Given the description of an element on the screen output the (x, y) to click on. 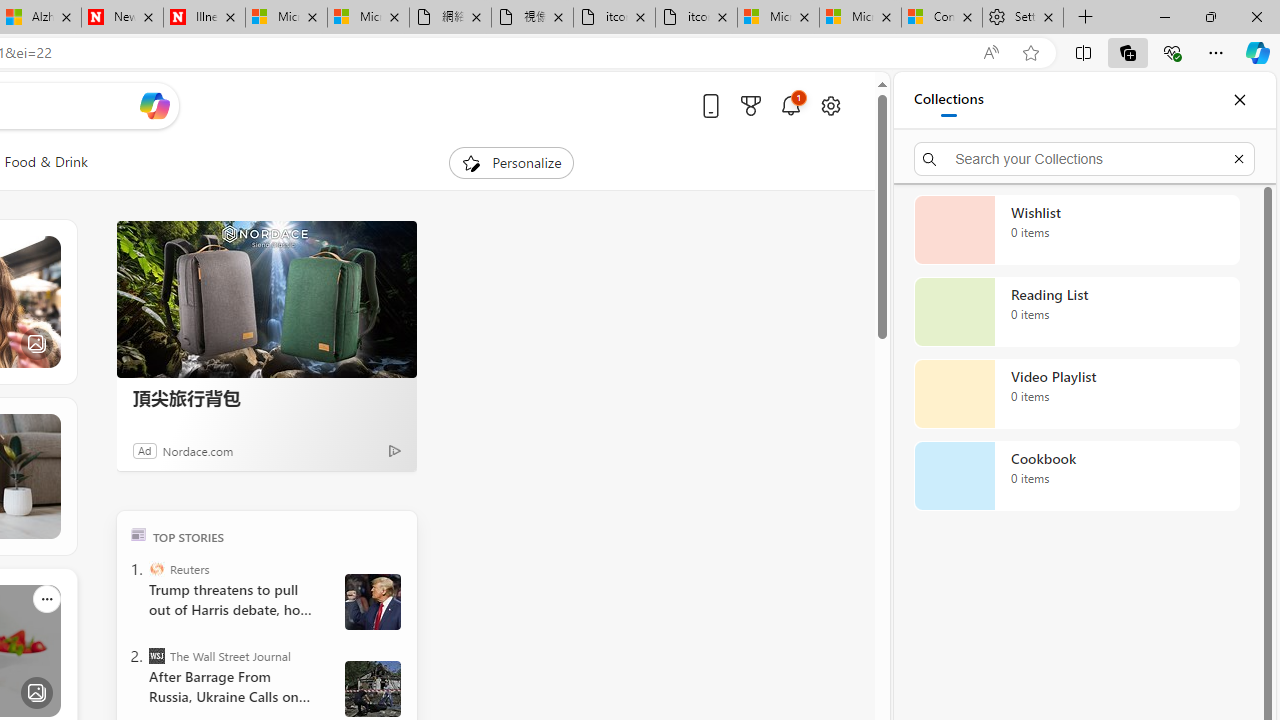
Open Copilot (155, 105)
TOP (138, 534)
See more (46, 598)
